Given the description of an element on the screen output the (x, y) to click on. 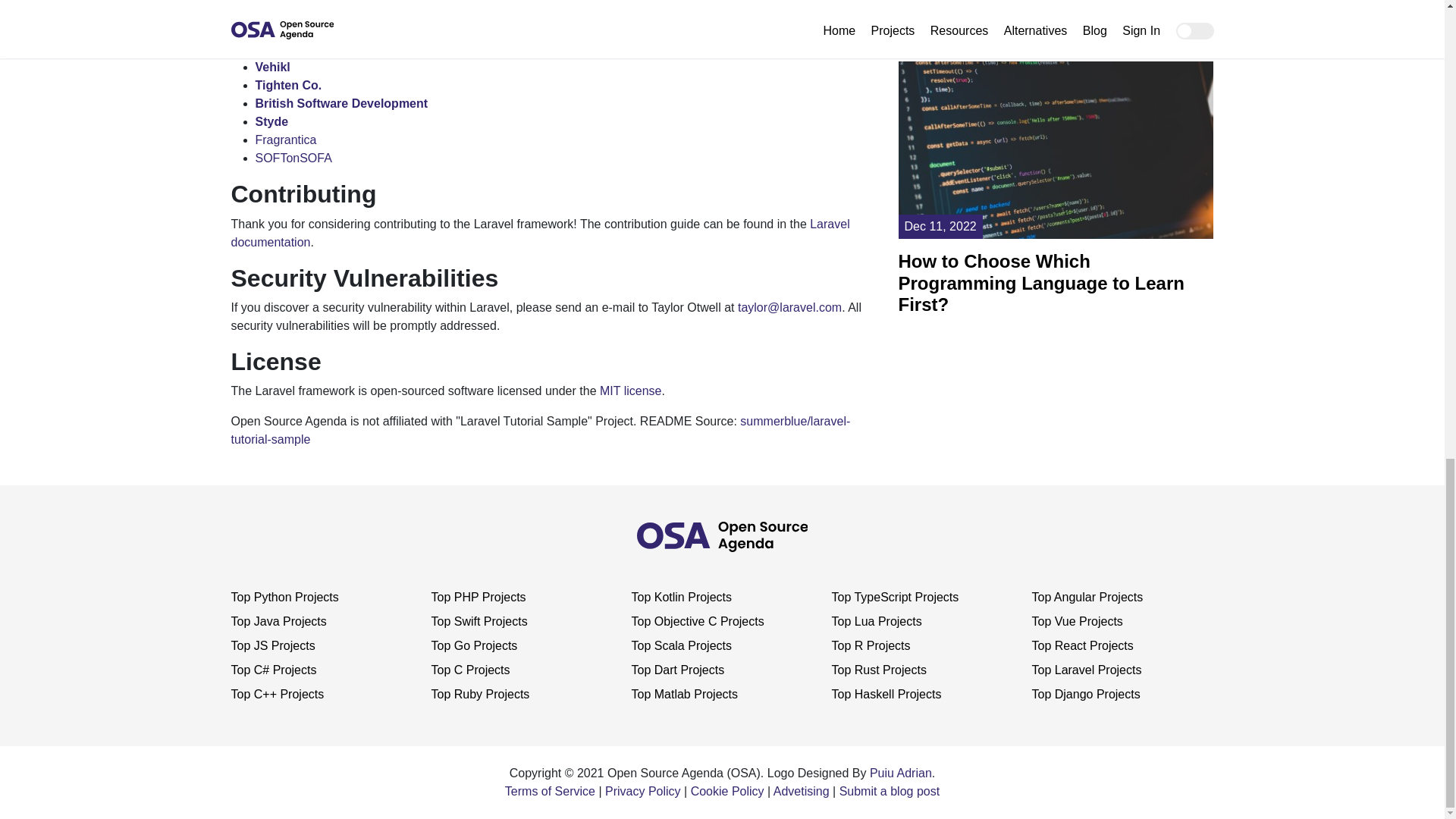
British Software Development (341, 103)
Styde (271, 121)
Fragrantica (284, 139)
Laravel documentation (539, 232)
SOFTonSOFA (292, 157)
Patreon page (577, 36)
Tighten Co. (287, 84)
Vehikl (271, 66)
